Given the description of an element on the screen output the (x, y) to click on. 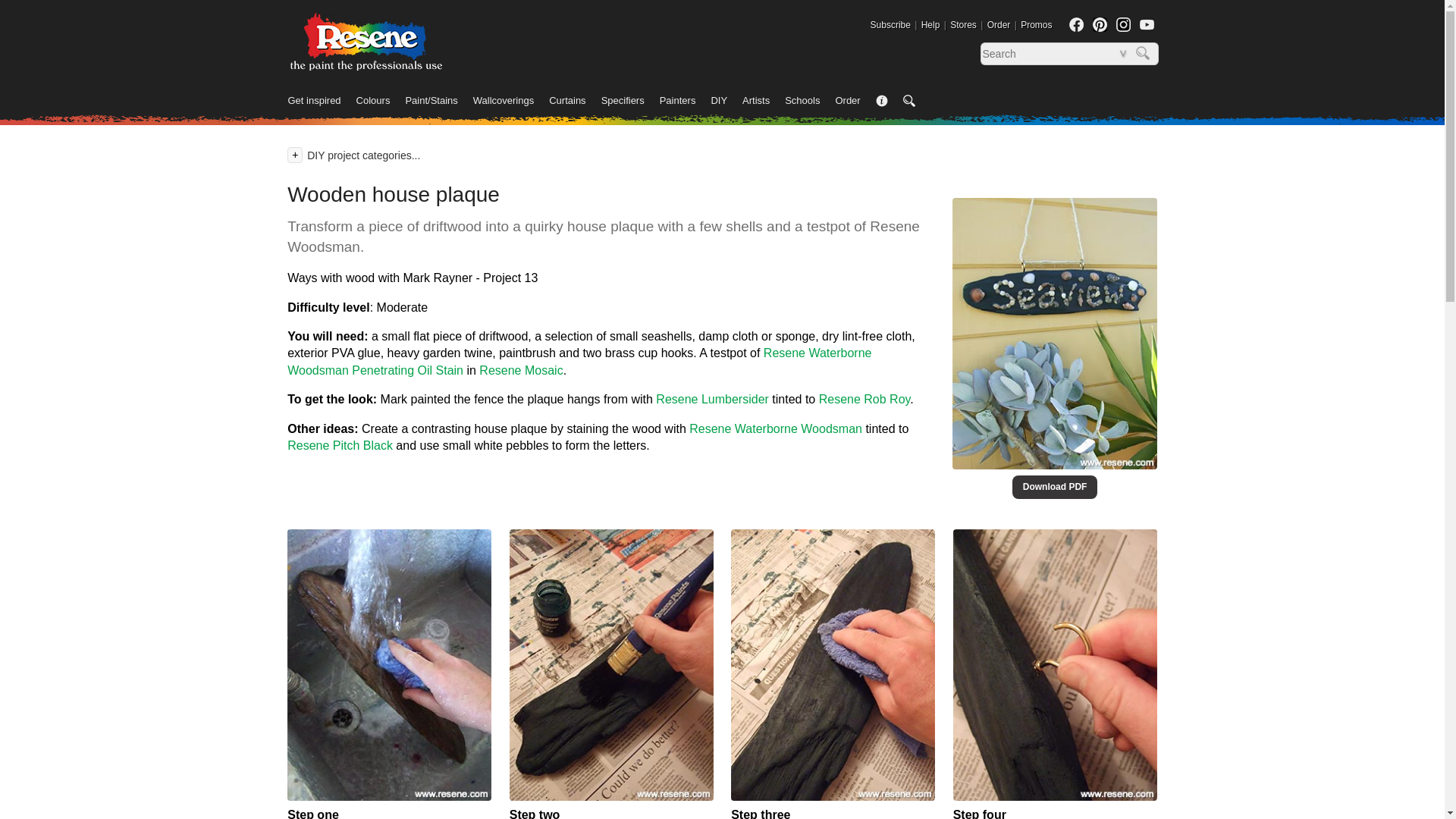
Follow us on YouTube (1145, 24)
Follow us on Instagram (1123, 24)
Follow us on Facebook (1075, 24)
Colours (381, 102)
Get inspired (322, 102)
Search (1145, 54)
Stores (963, 24)
Promos (1035, 24)
Order (998, 24)
Subscribe (890, 24)
